Given the description of an element on the screen output the (x, y) to click on. 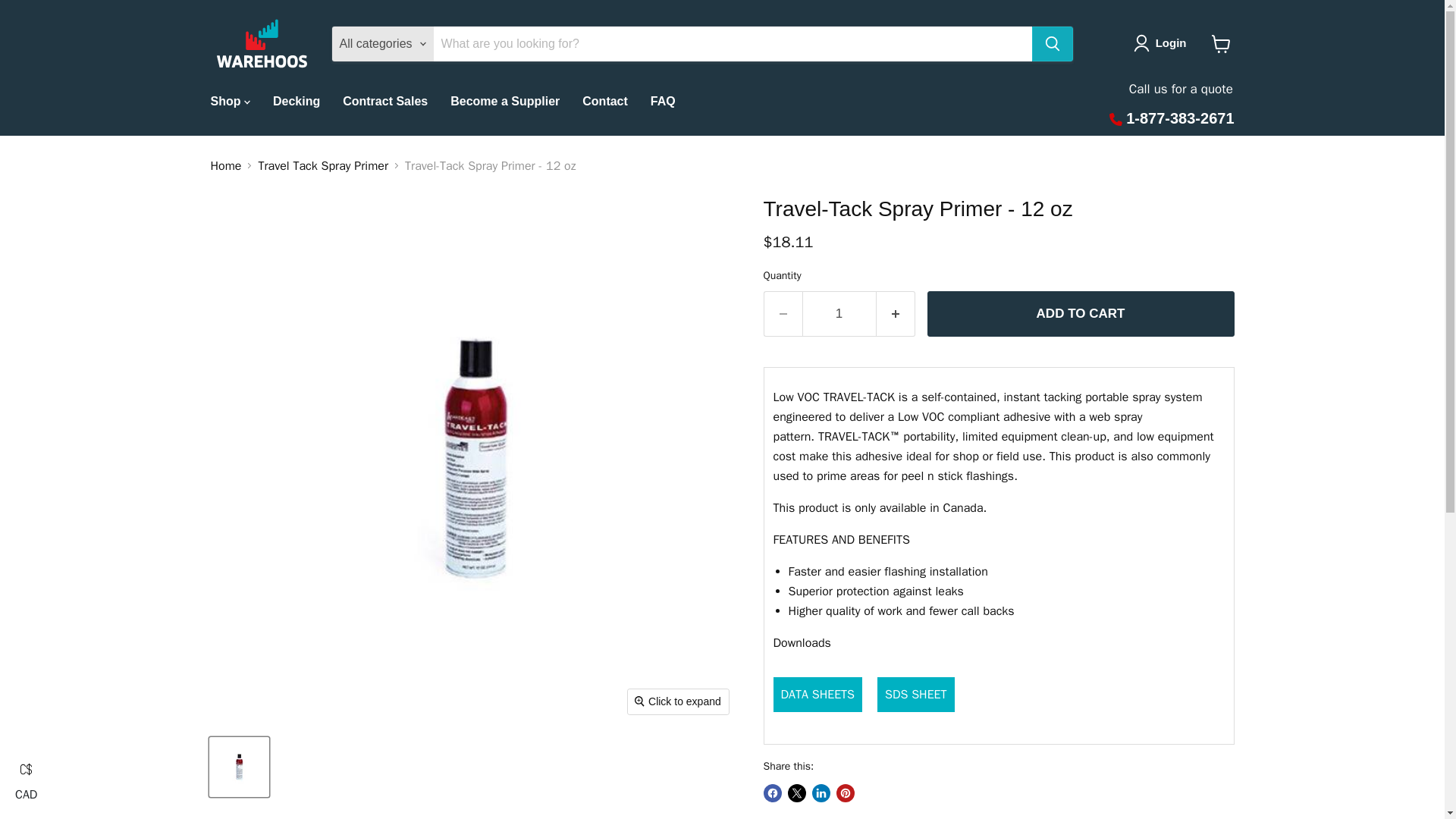
View cart (1221, 43)
Customer reviews powered by Trustpilot (997, 357)
1 (839, 313)
Login (1163, 43)
